Given the description of an element on the screen output the (x, y) to click on. 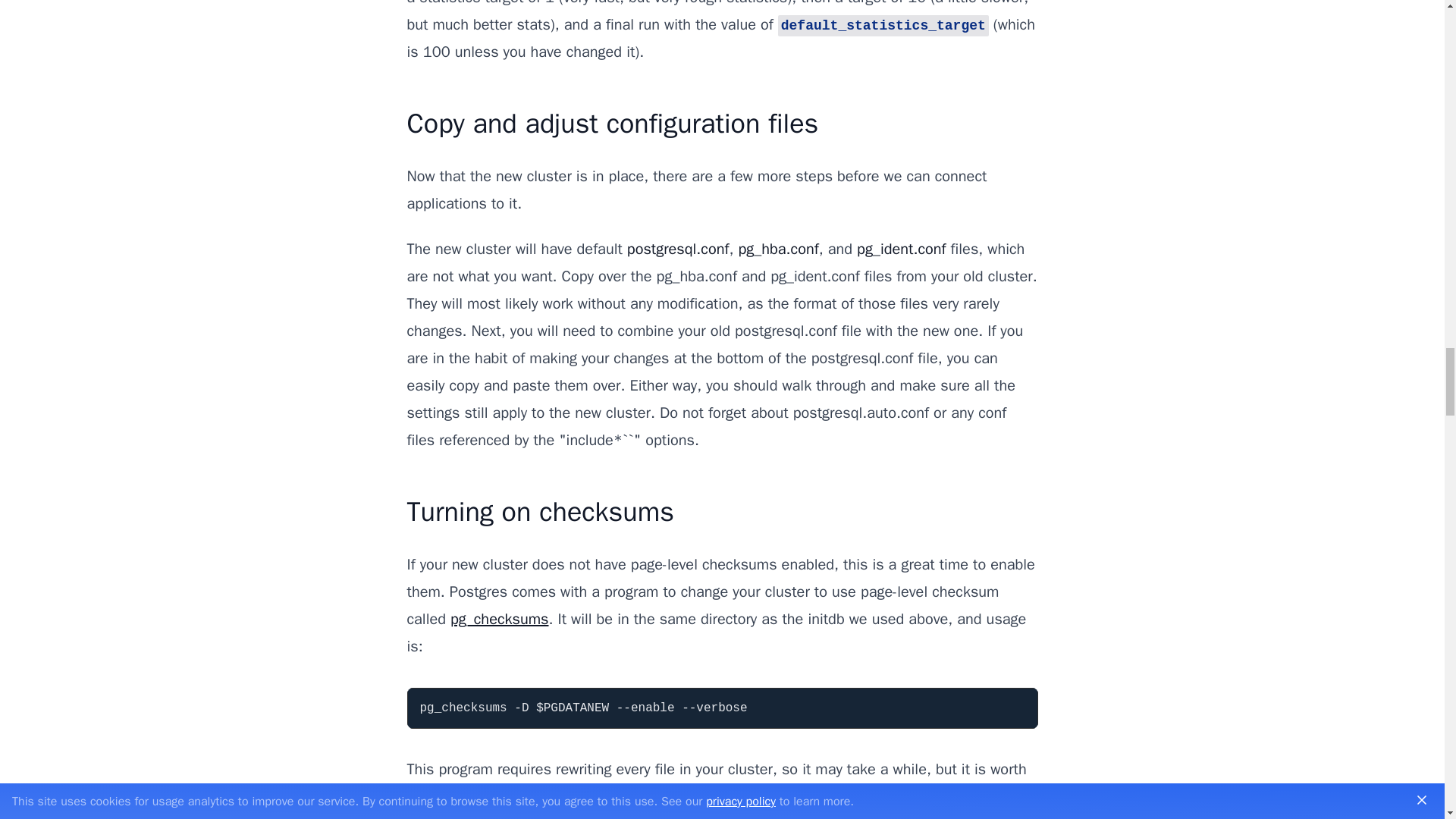
Turning on checksums (539, 511)
Copy and adjust configuration files (612, 123)
